Given the description of an element on the screen output the (x, y) to click on. 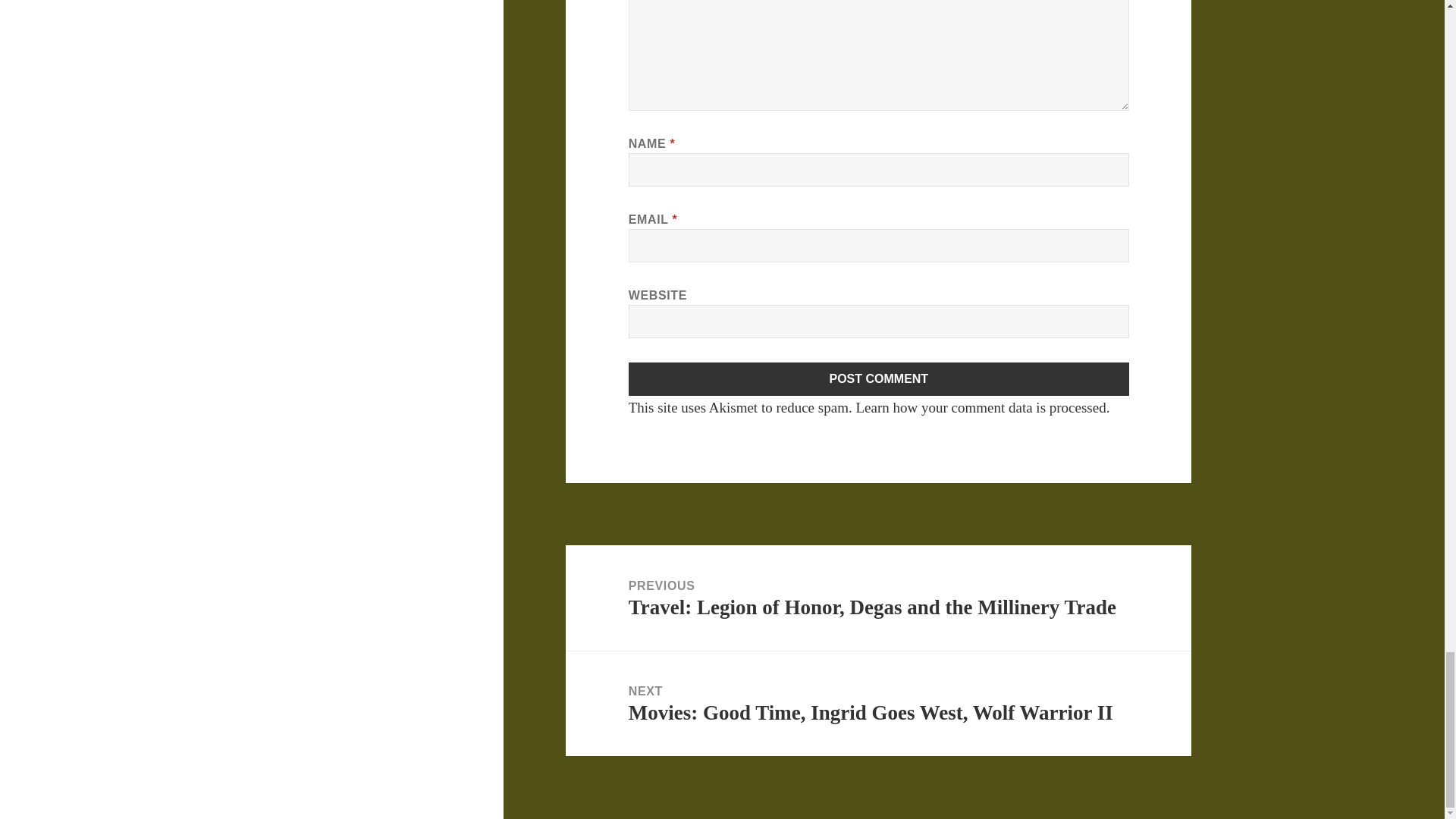
Post Comment (878, 378)
Post Comment (878, 378)
Learn how your comment data is processed (980, 407)
